Given the description of an element on the screen output the (x, y) to click on. 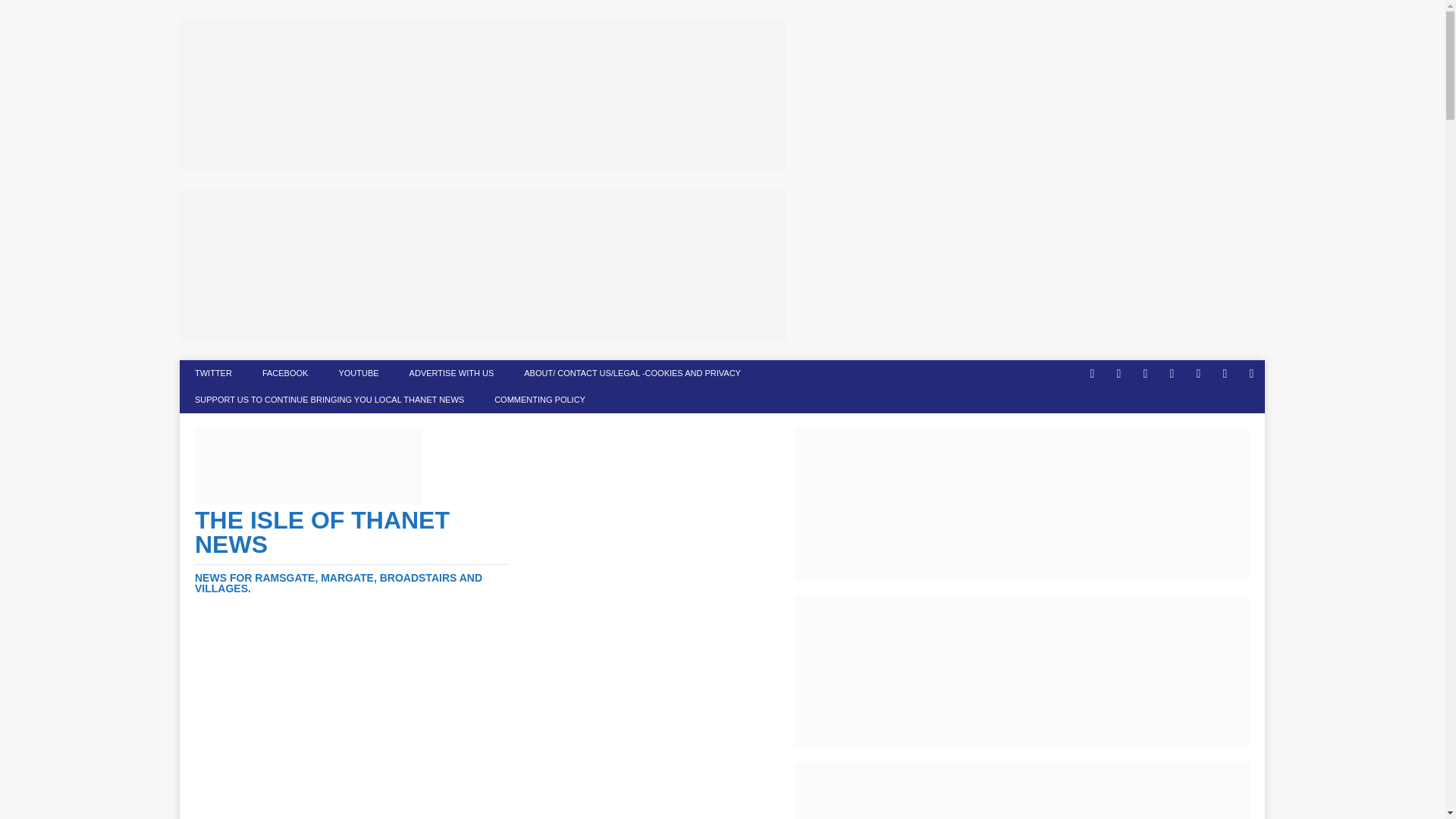
TWITTER (213, 373)
ADVERTISE WITH US (451, 373)
FACEBOOK (285, 373)
YOUTUBE (358, 373)
The Isle Of Thanet News (351, 550)
COMMENTING POLICY (539, 399)
SUPPORT US TO CONTINUE BRINGING YOU LOCAL THANET NEWS (329, 399)
